Given the description of an element on the screen output the (x, y) to click on. 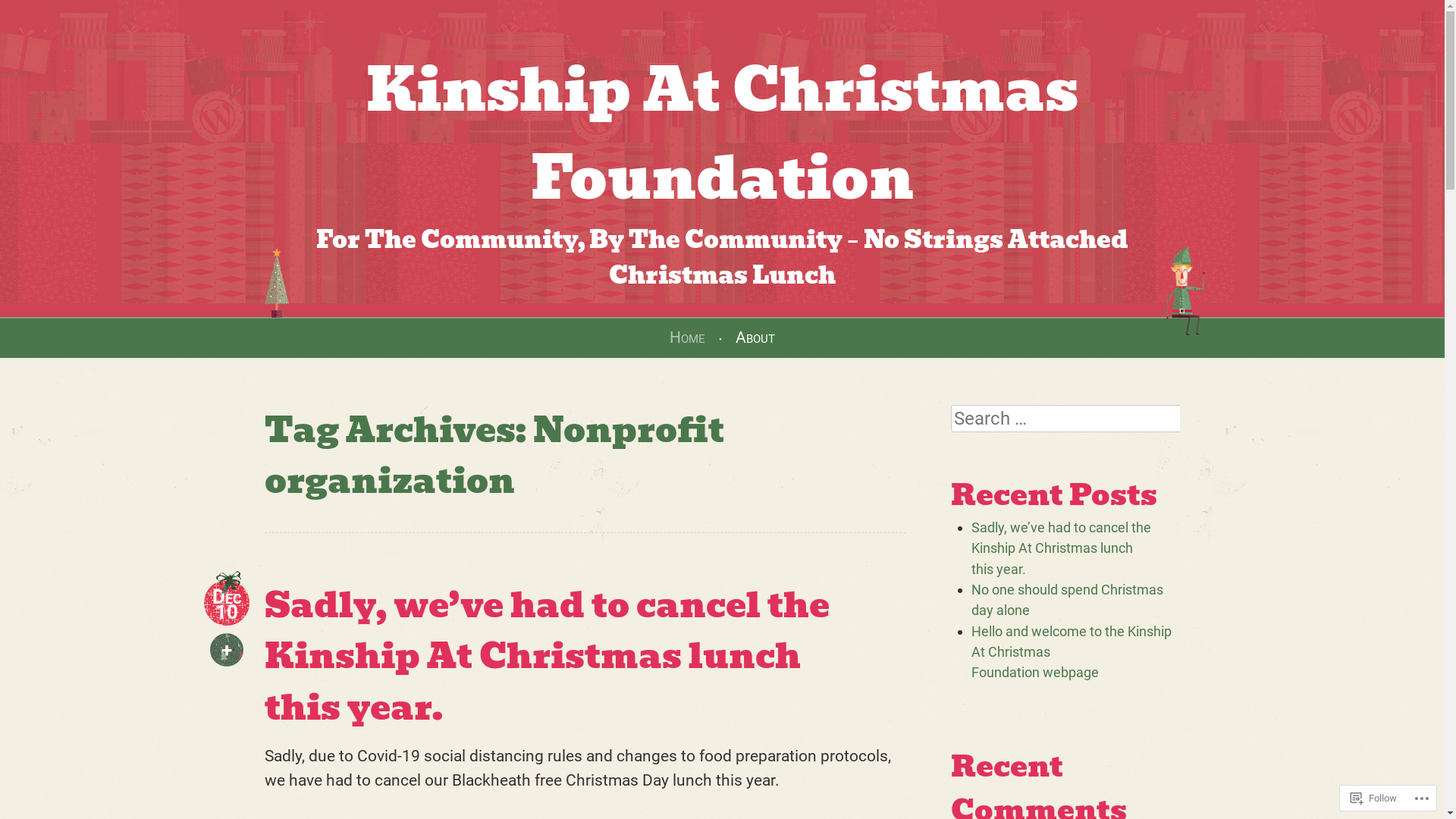
Skip to content Element type: text (57, 337)
About Element type: text (755, 337)
Home Element type: text (687, 337)
Kinship At Christmas Foundation Element type: text (722, 133)
No one should spend Christmas day alone Element type: text (1067, 599)
+ Element type: text (226, 649)
Follow Element type: text (1373, 797)
Search Element type: text (31, 12)
